Given the description of an element on the screen output the (x, y) to click on. 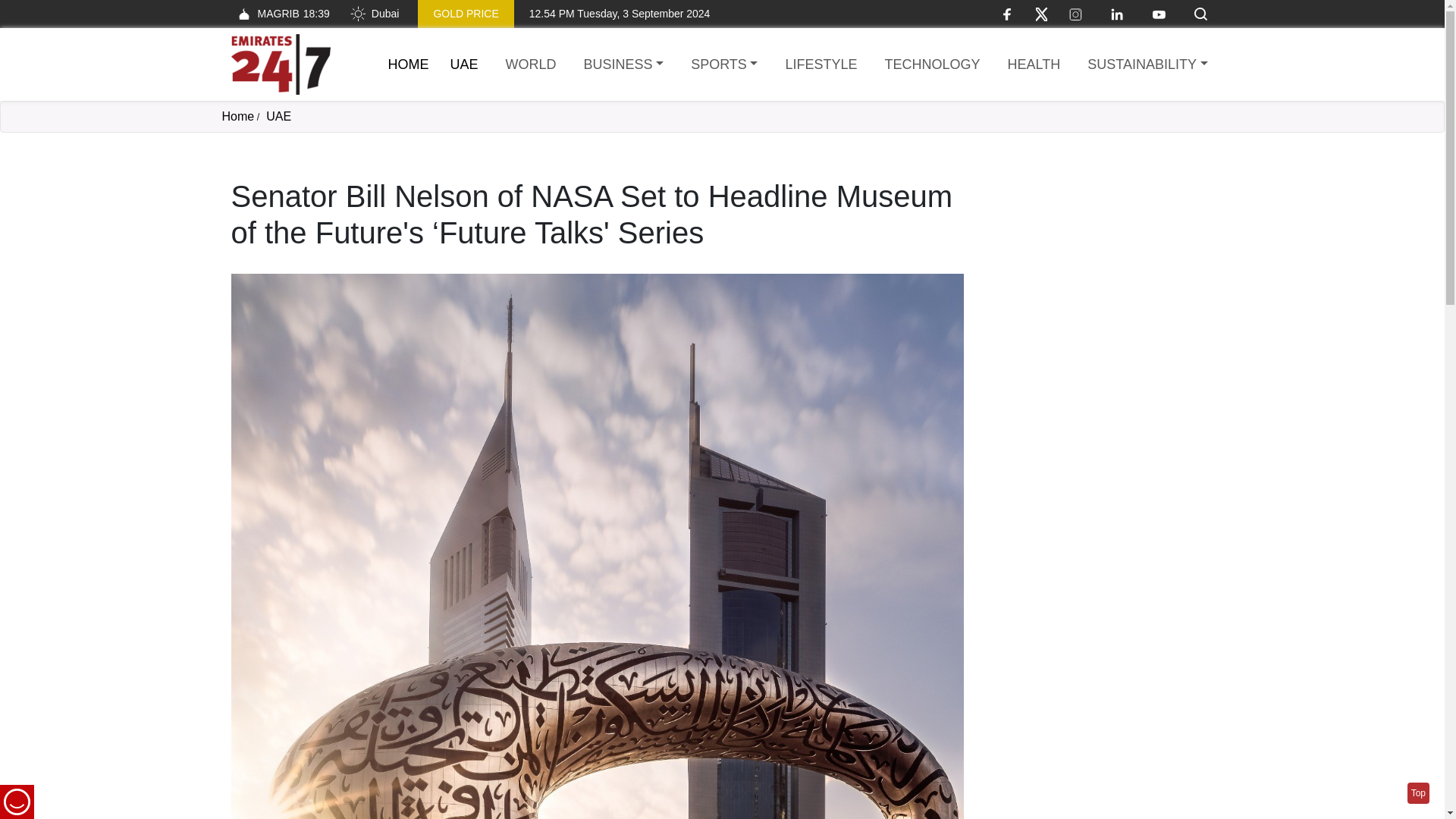
GOLD PRICE (465, 13)
HEALTH (1034, 64)
UAE (278, 115)
WORLD (530, 64)
SPORTS (723, 64)
SUSTAINABILITY (1146, 64)
Home (280, 64)
HOME (408, 63)
BUSINESS (623, 64)
LIFESTYLE (820, 64)
